Given the description of an element on the screen output the (x, y) to click on. 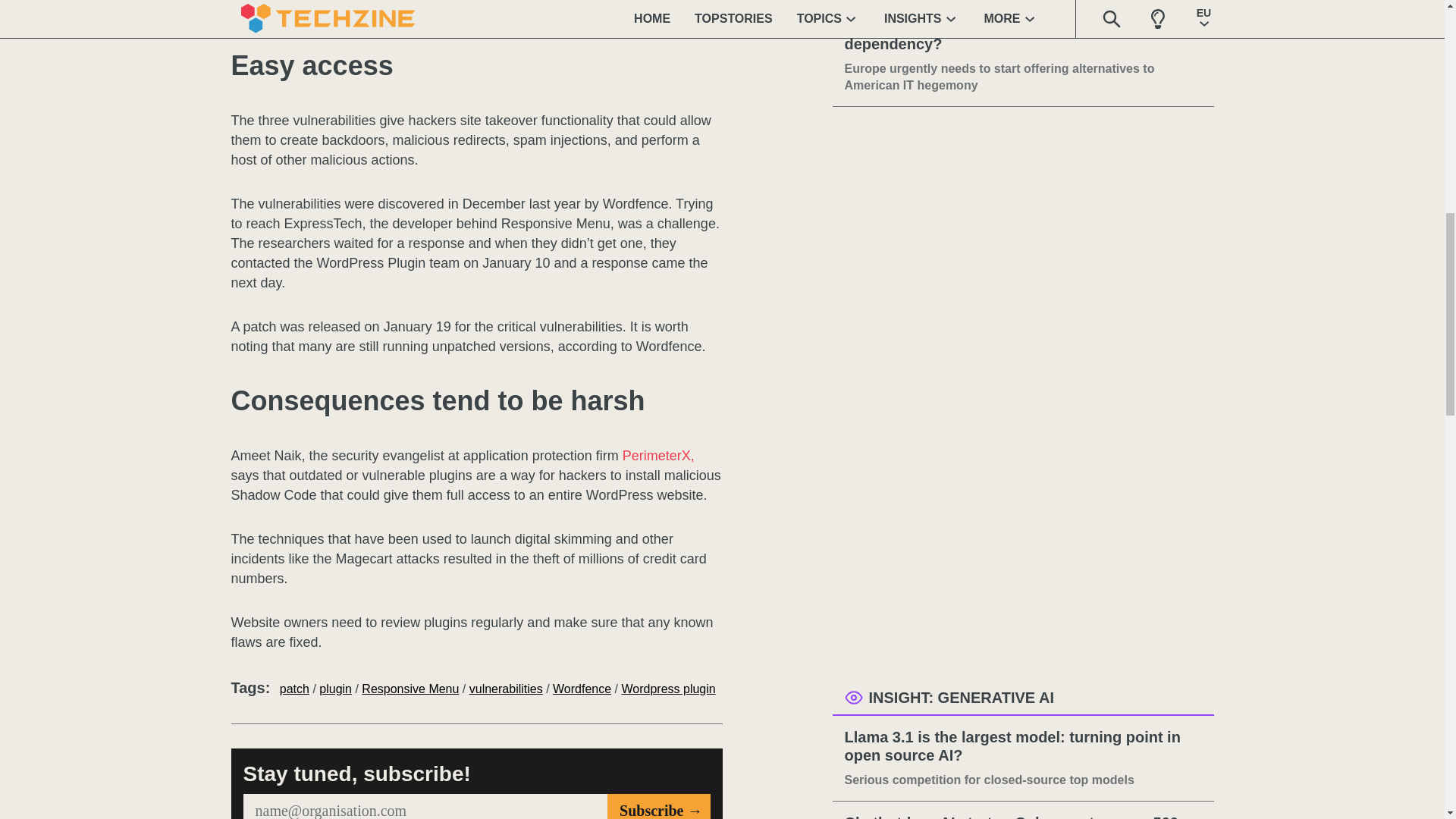
Who will turn Europe into more than a digital dependency? (1023, 35)
